Given the description of an element on the screen output the (x, y) to click on. 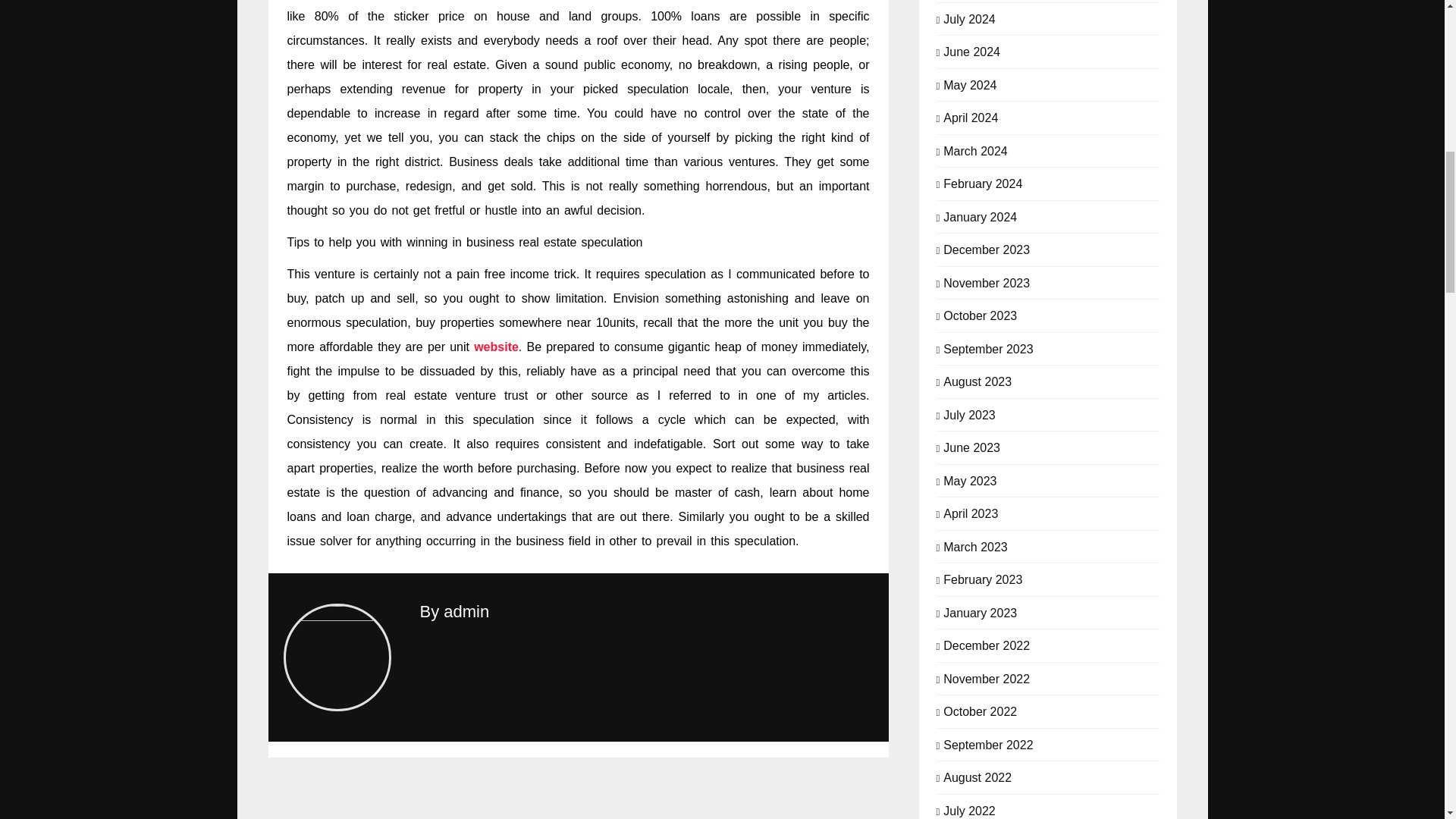
November 2023 (986, 281)
May 2024 (969, 83)
May 2023 (969, 478)
website (496, 346)
February 2023 (982, 578)
July 2023 (969, 413)
June 2024 (971, 50)
By admin (454, 610)
April 2024 (970, 116)
March 2023 (975, 545)
